Given the description of an element on the screen output the (x, y) to click on. 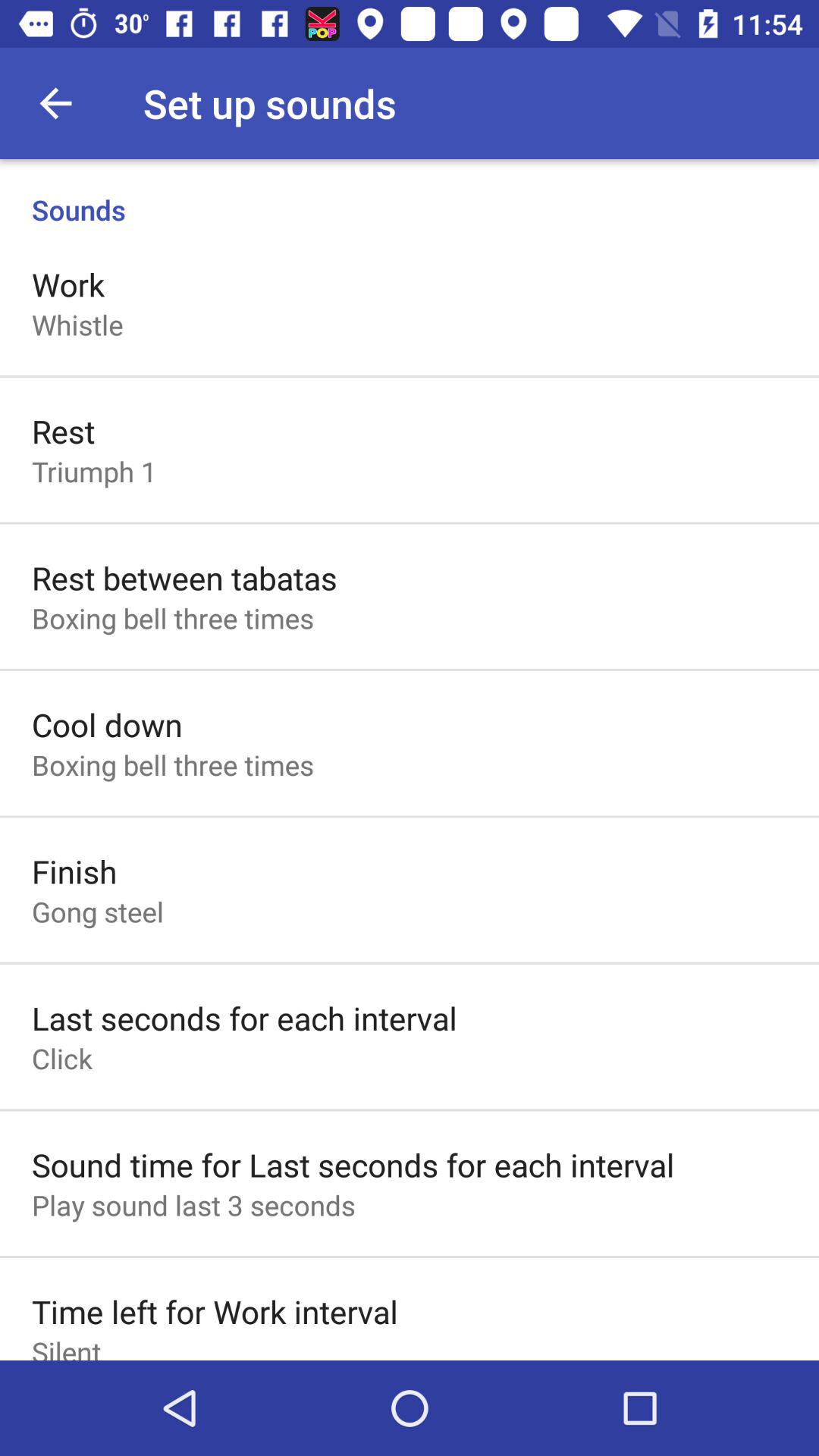
choose icon below work icon (77, 324)
